Given the description of an element on the screen output the (x, y) to click on. 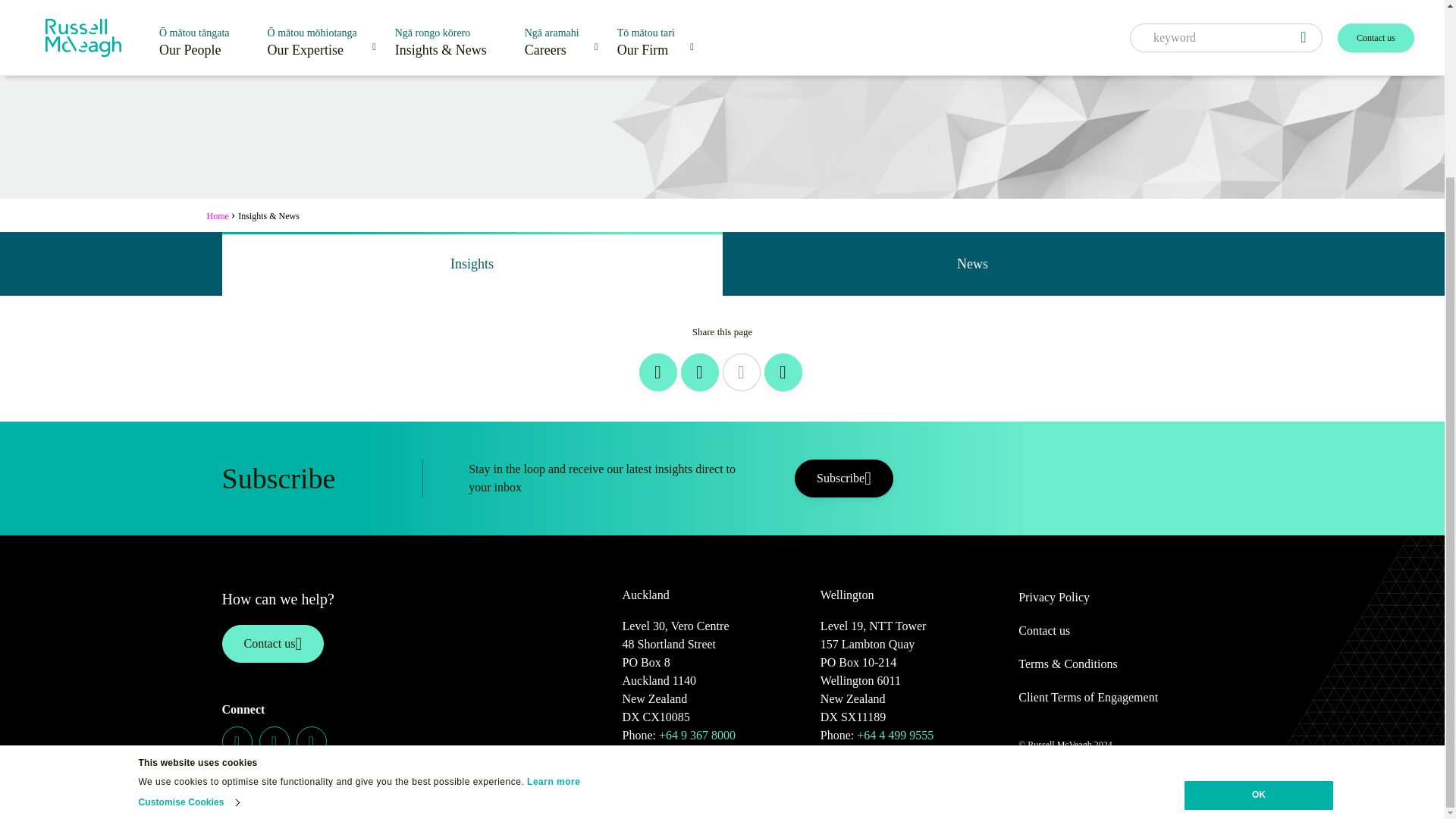
Learn more (553, 565)
Share on LinkedIn (658, 371)
Follow us on Facebook (274, 741)
Customise Cookies (188, 586)
Connect with us on LinkedIn (236, 741)
OK (1258, 579)
Print this page (741, 371)
Share on Instagram (700, 371)
Send to a Friend (783, 371)
